Given the description of an element on the screen output the (x, y) to click on. 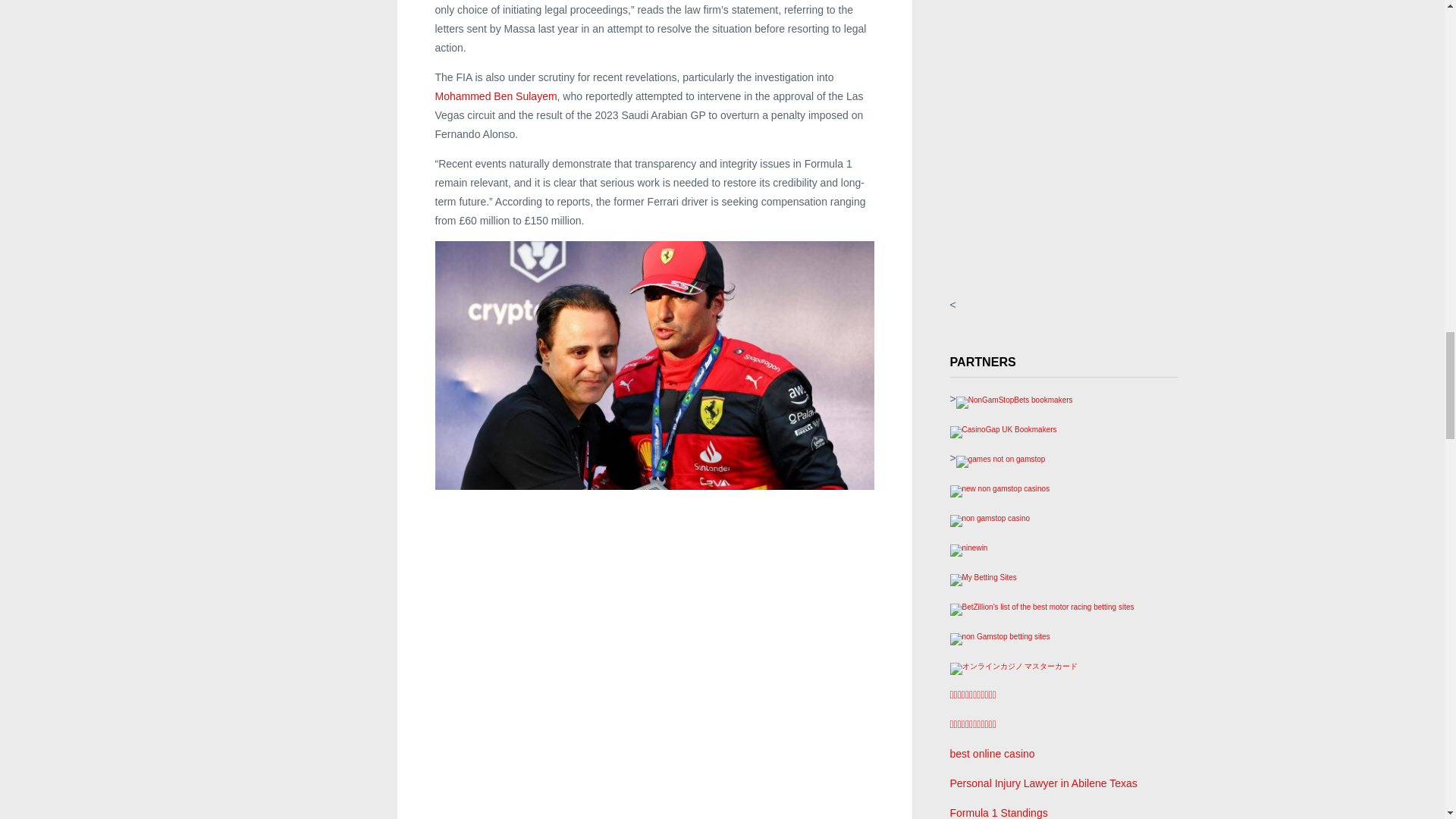
CasinoGap UK Bookmakers (1003, 428)
thegamepoint (1000, 458)
NonGamStopBets bookmakers (1014, 398)
justuk (989, 517)
gamblingpro (999, 487)
